Given the description of an element on the screen output the (x, y) to click on. 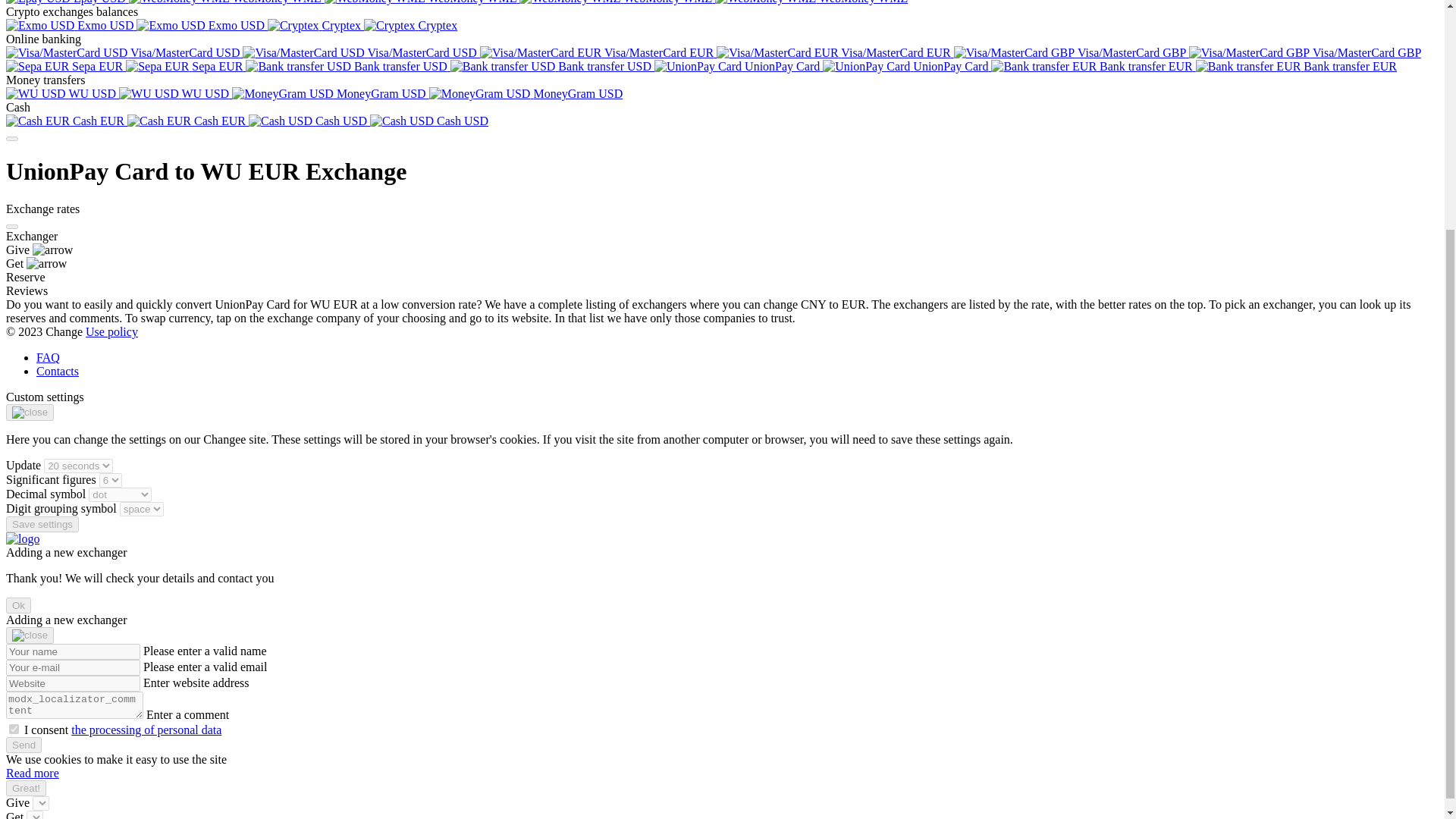
yes (13, 728)
